Given the description of an element on the screen output the (x, y) to click on. 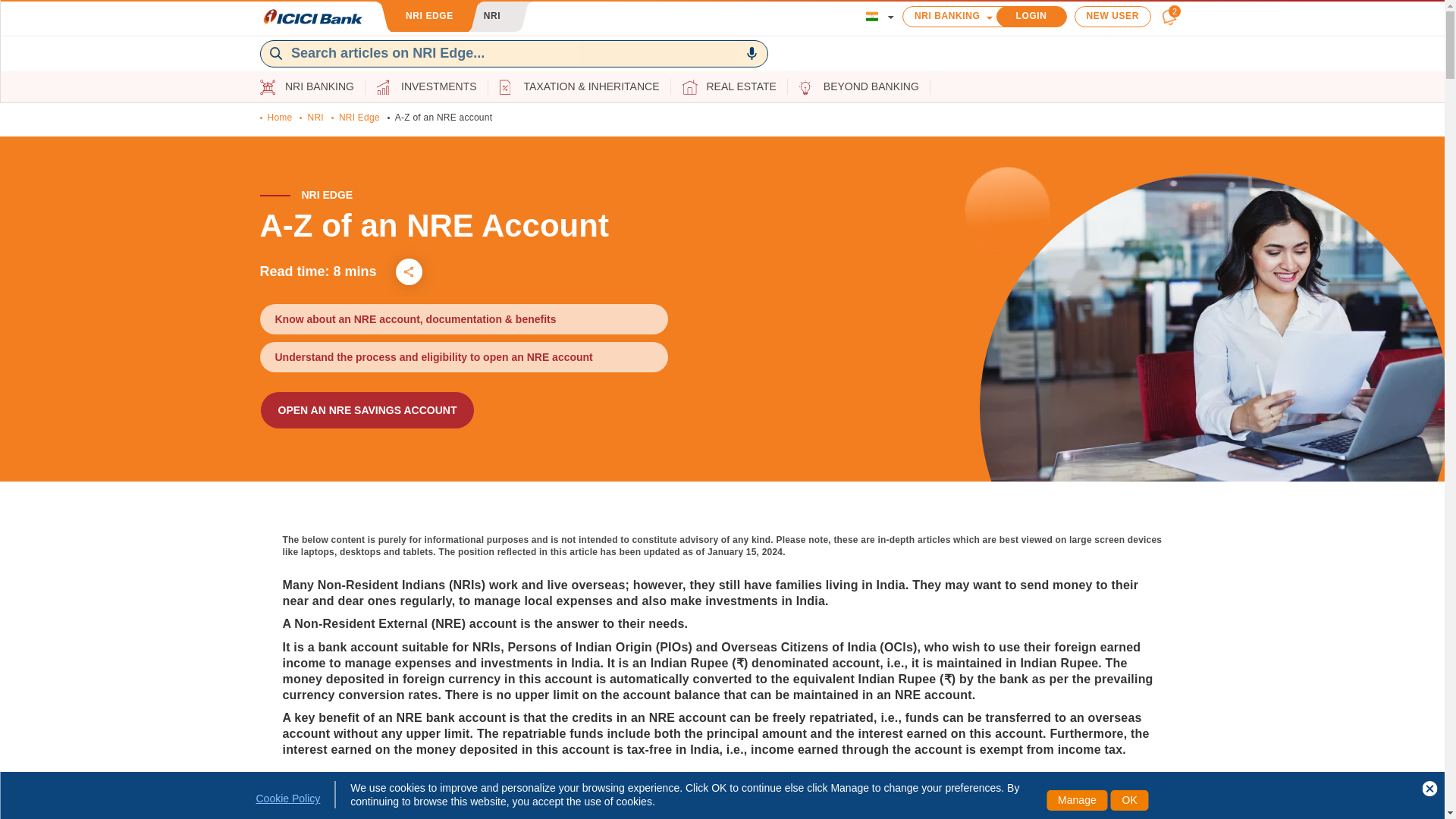
NRI BANKING (319, 87)
LOGIN (1031, 15)
NEW USER (1112, 15)
INVESTMENTS (439, 87)
NRI BANKING (956, 15)
NRI (491, 16)
NRI EDGE (429, 16)
OPEN AN NRE Savings Account (366, 410)
